Given the description of an element on the screen output the (x, y) to click on. 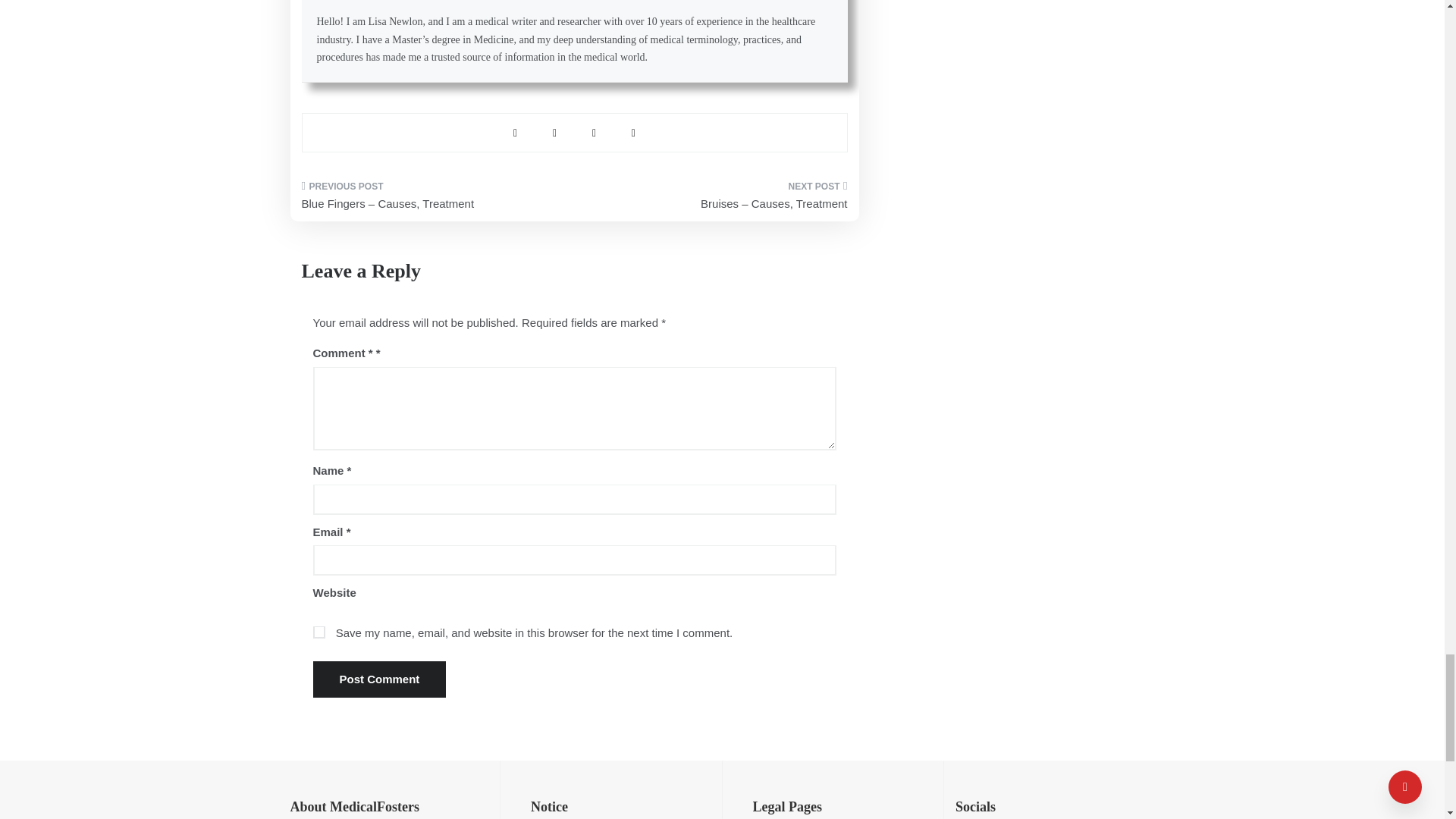
yes (318, 632)
Post Comment (379, 678)
